Given the description of an element on the screen output the (x, y) to click on. 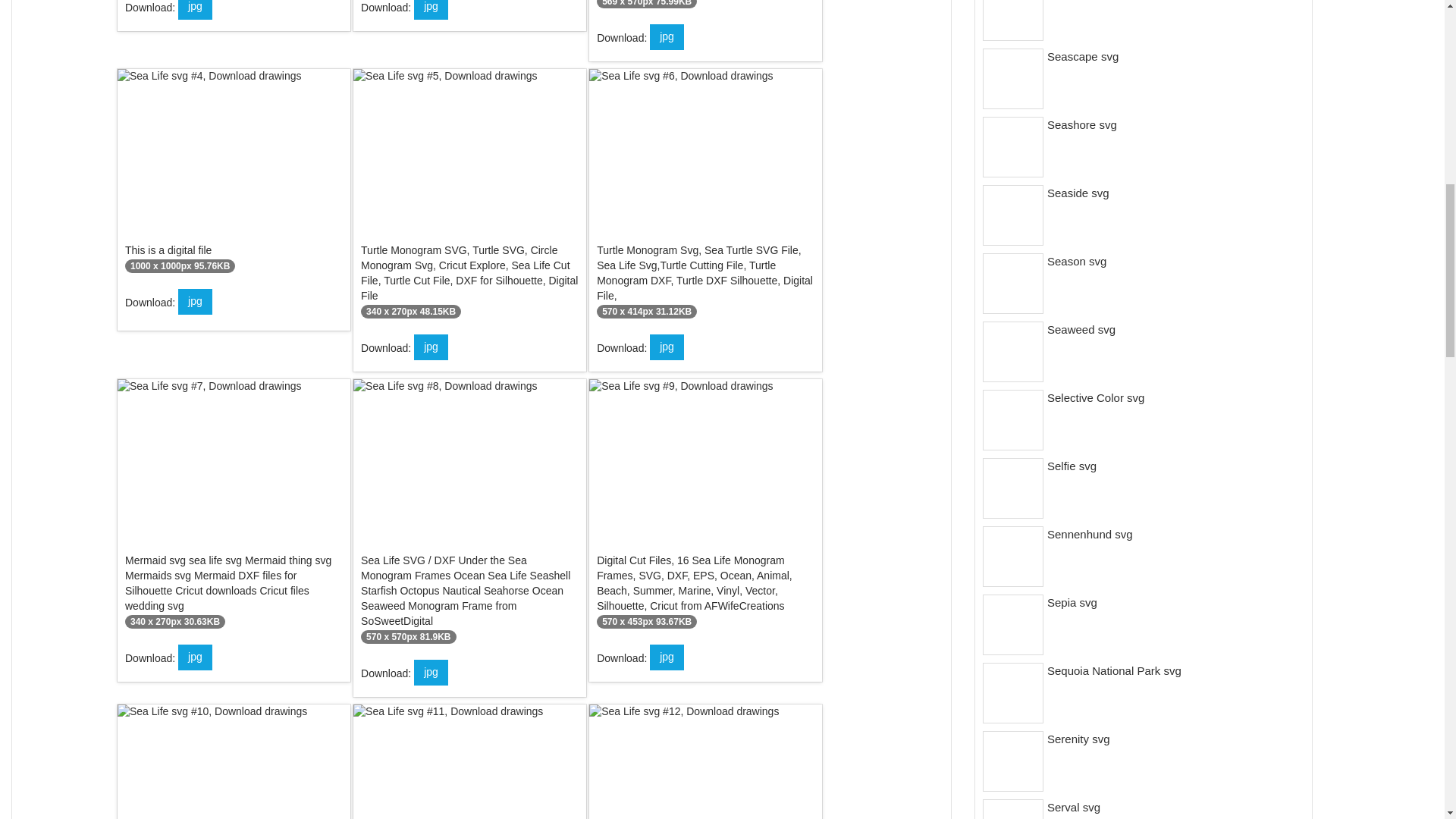
Download image (430, 347)
File turtle monogram (469, 197)
Download image (194, 301)
Life jpg silhouette (705, 8)
Download image (194, 657)
Download image (430, 9)
Download image (430, 672)
Download image (666, 657)
For silhouette thing (233, 508)
Download image (194, 9)
